Given the description of an element on the screen output the (x, y) to click on. 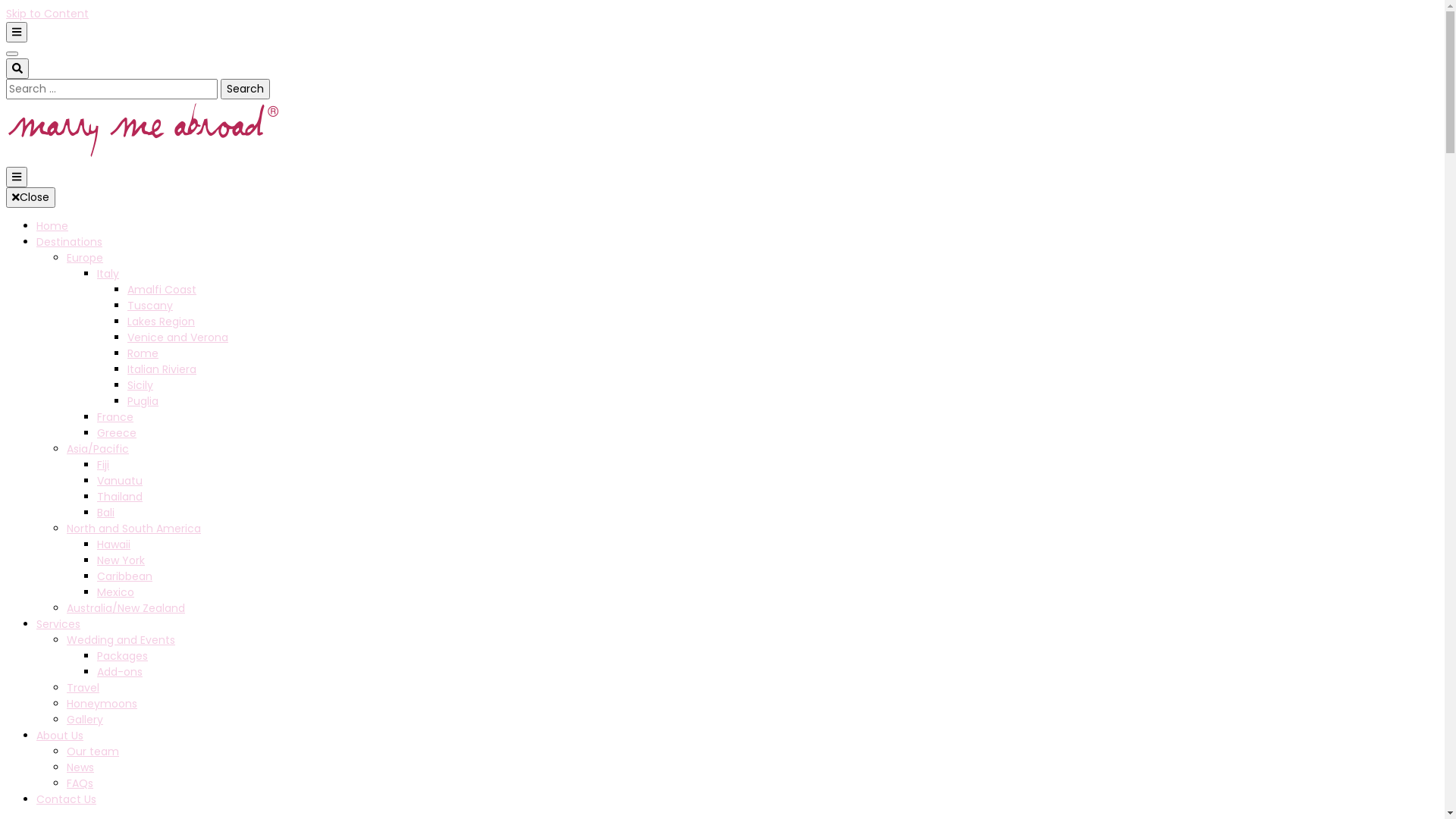
Venice and Verona Element type: text (177, 337)
Marry Me Abroad Element type: text (157, 239)
Fiji Element type: text (103, 464)
Mexico Element type: text (115, 591)
Australia/New Zealand Element type: text (125, 607)
Tuscany Element type: text (149, 305)
Greece Element type: text (116, 432)
Italy Element type: text (108, 273)
Destinations Element type: text (69, 241)
Contact Us Element type: text (66, 798)
Puglia Element type: text (142, 400)
Add-ons Element type: text (119, 671)
Sicily Element type: text (140, 384)
Italian Riviera Element type: text (161, 368)
North and South America Element type: text (133, 528)
Lakes Region Element type: text (160, 321)
Vanuatu Element type: text (119, 480)
Rome Element type: text (142, 352)
Travel Element type: text (82, 687)
Home Element type: text (52, 225)
Honeymoons Element type: text (101, 703)
About Us Element type: text (59, 735)
Hawaii Element type: text (113, 544)
Bali Element type: text (105, 512)
Services Element type: text (58, 623)
Packages Element type: text (122, 655)
Wedding and Events Element type: text (120, 639)
News Element type: text (80, 767)
Amalfi Coast Element type: text (161, 289)
New York Element type: text (120, 559)
Our team Element type: text (92, 751)
Asia/Pacific Element type: text (97, 448)
France Element type: text (115, 416)
Thailand Element type: text (119, 496)
Search Element type: text (244, 88)
Caribbean Element type: text (124, 575)
Gallery Element type: text (84, 719)
Europe Element type: text (84, 257)
Skip to Content Element type: text (47, 13)
FAQs Element type: text (79, 782)
Close Element type: text (30, 197)
